Given the description of an element on the screen output the (x, y) to click on. 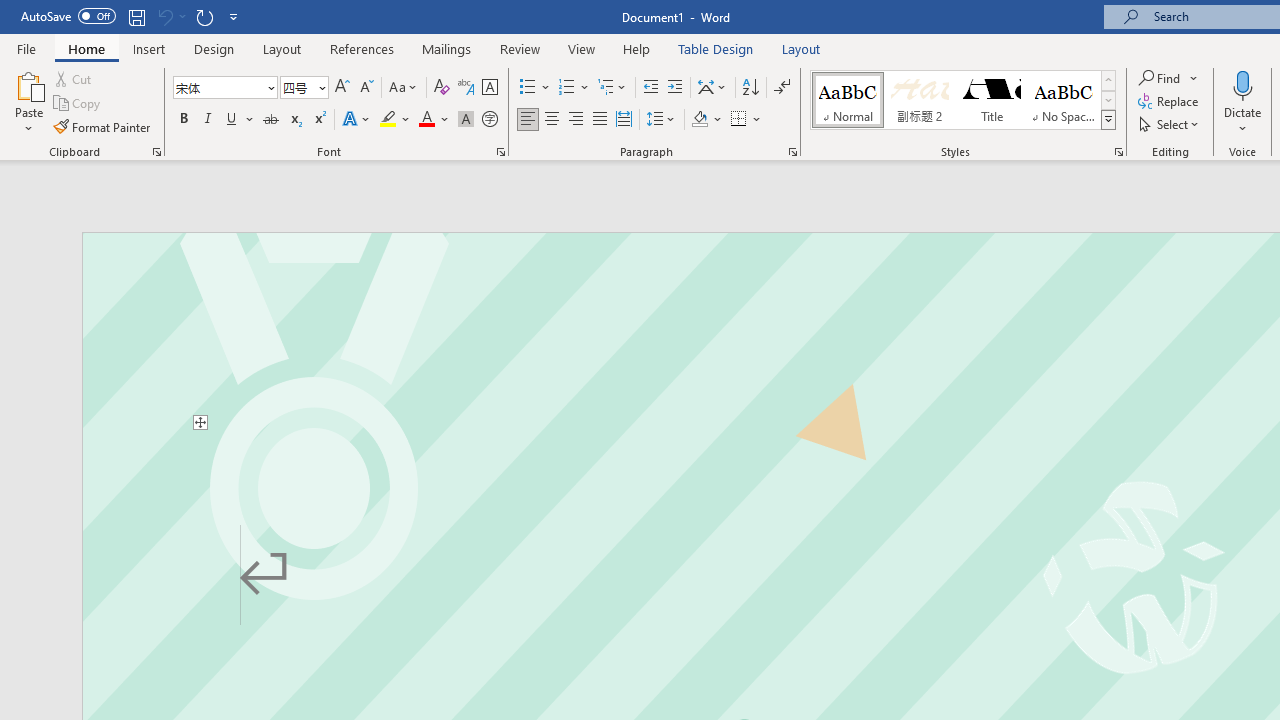
AutomationID: QuickStylesGallery (963, 99)
Office Clipboard... (156, 151)
Font... (500, 151)
Clear Formatting (442, 87)
Can't Undo (170, 15)
Multilevel List (613, 87)
Align Left (527, 119)
Enclose Characters... (489, 119)
